Given the description of an element on the screen output the (x, y) to click on. 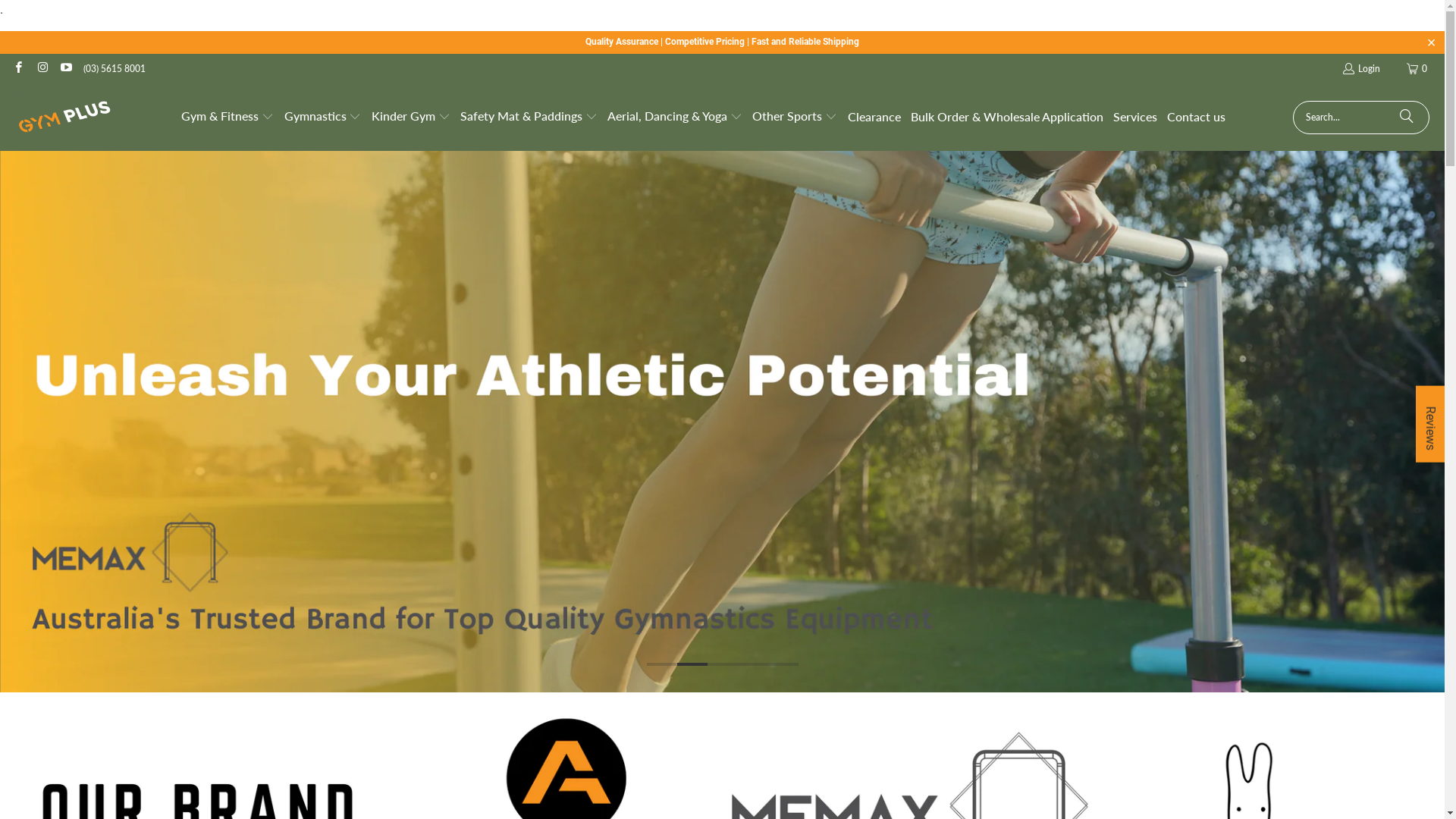
Login Element type: text (1360, 68)
0 Element type: text (1417, 68)
Bulk Order & Wholesale Application Element type: text (1006, 116)
Gym Plus on YouTube Element type: hover (65, 68)
(03) 5615 8001 Element type: text (114, 68)
Gym Plus on Facebook Element type: hover (17, 68)
Services Element type: text (1135, 116)
Clearance Element type: text (873, 116)
Gym Plus Element type: hover (64, 117)
Gym Plus on Instagram Element type: hover (40, 68)
Contact us Element type: text (1196, 116)
